Given the description of an element on the screen output the (x, y) to click on. 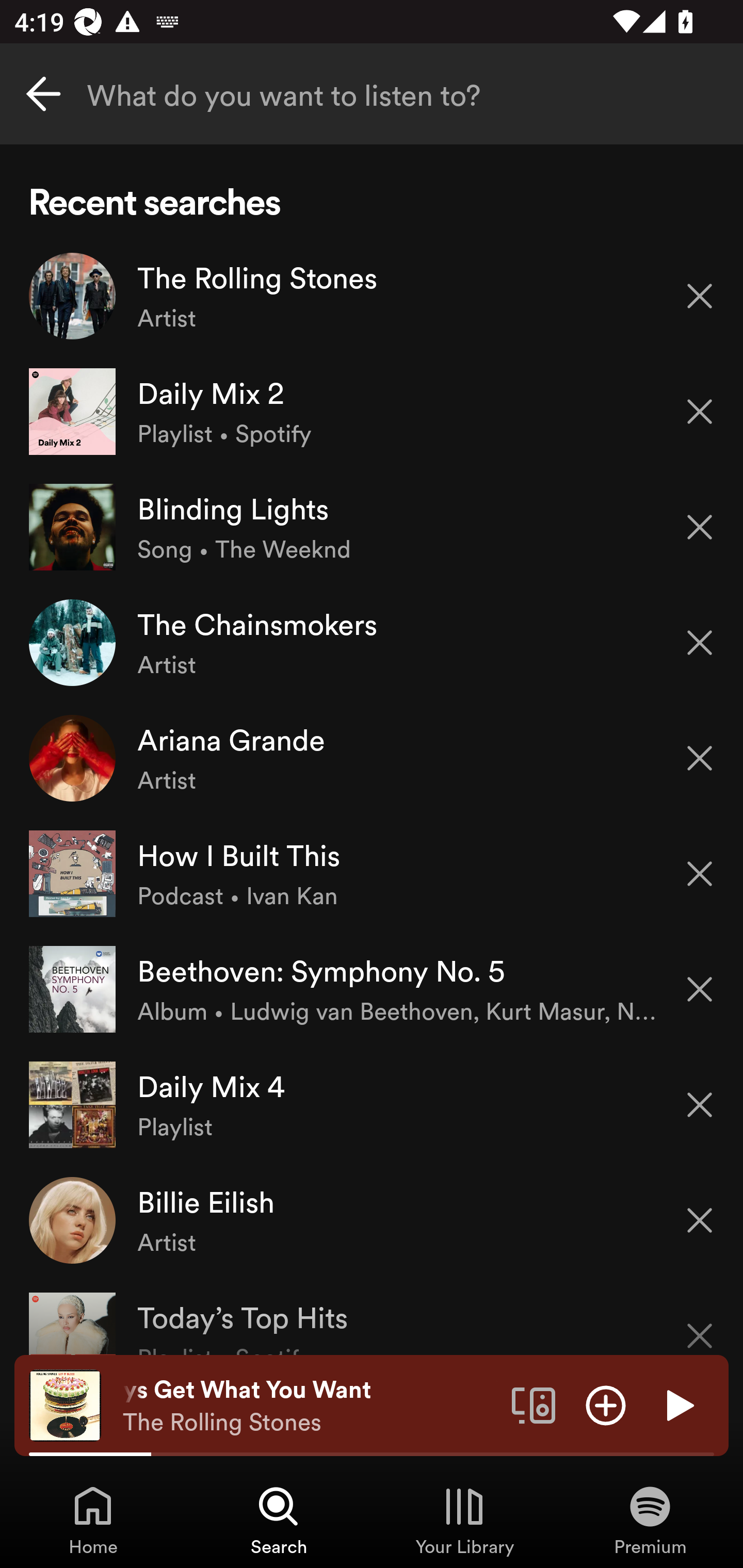
What do you want to listen to? (371, 93)
Cancel (43, 93)
The Rolling Stones Artist Remove (371, 296)
Remove (699, 295)
Daily Mix 2 Playlist • Spotify Remove (371, 411)
Remove (699, 411)
Blinding Lights Song • The Weeknd Remove (371, 526)
Remove (699, 527)
The Chainsmokers Artist Remove (371, 642)
Remove (699, 642)
Ariana Grande Artist Remove (371, 757)
Remove (699, 758)
How I Built This Podcast • Ivan Kan Remove (371, 873)
Remove (699, 874)
Remove (699, 989)
Daily Mix 4 Playlist Remove (371, 1104)
Remove (699, 1104)
Billie Eilish Artist Remove (371, 1219)
Remove (699, 1220)
Today’s Top Hits Playlist • Spotify Remove (371, 1315)
Remove (699, 1323)
The cover art of the currently playing track (64, 1404)
Connect to a device. Opens the devices menu (533, 1404)
Add item (605, 1404)
Play (677, 1404)
Home, Tab 1 of 4 Home Home (92, 1519)
Search, Tab 2 of 4 Search Search (278, 1519)
Your Library, Tab 3 of 4 Your Library Your Library (464, 1519)
Premium, Tab 4 of 4 Premium Premium (650, 1519)
